Given the description of an element on the screen output the (x, y) to click on. 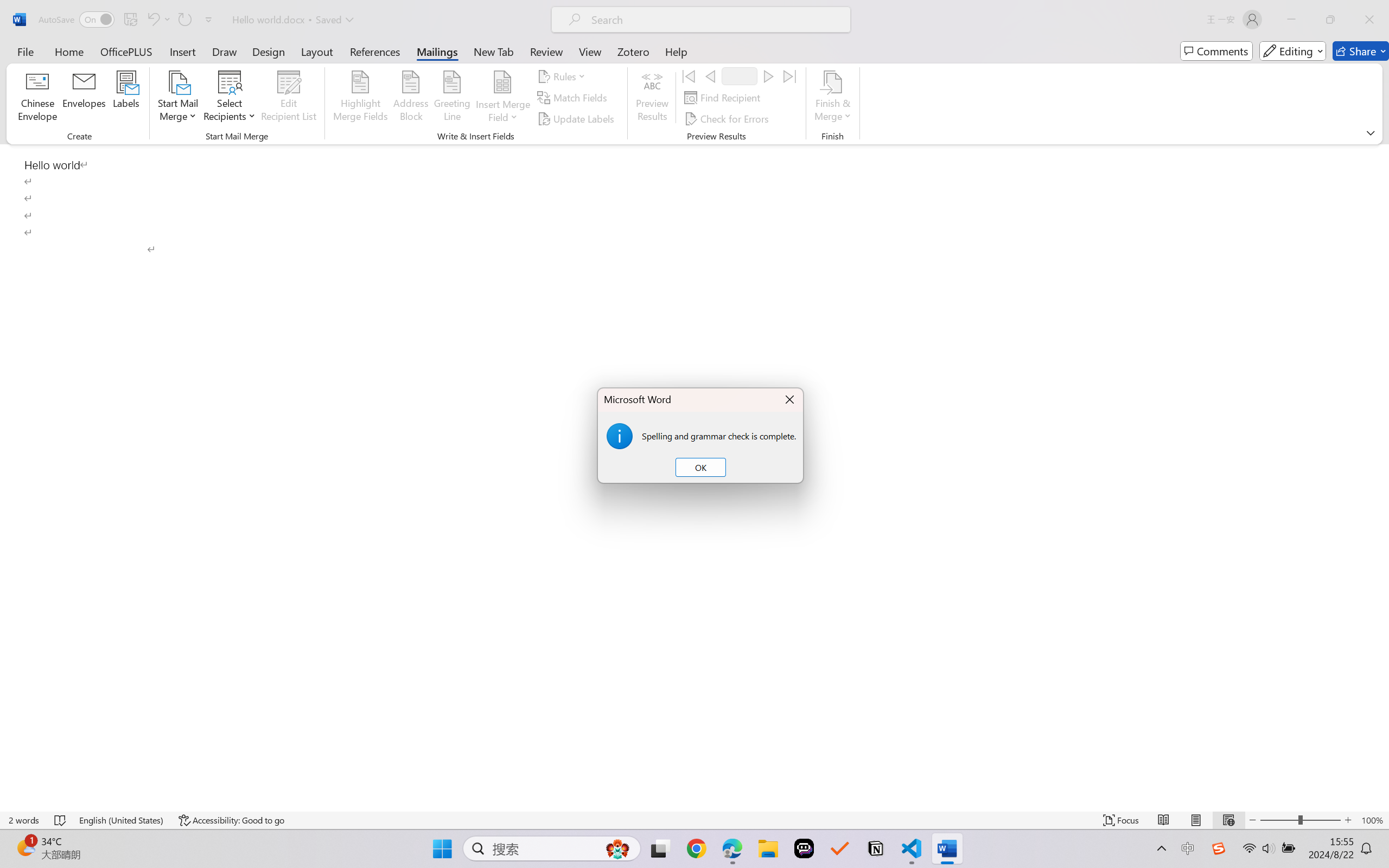
Address Block... (410, 97)
Undo Click and Type Formatting (152, 19)
Poe (804, 848)
Edit Recipient List... (288, 97)
Start Mail Merge (177, 97)
OK (700, 467)
File Tab (24, 51)
Home (69, 51)
Last (790, 75)
Share (1360, 51)
Close (1369, 19)
